Given the description of an element on the screen output the (x, y) to click on. 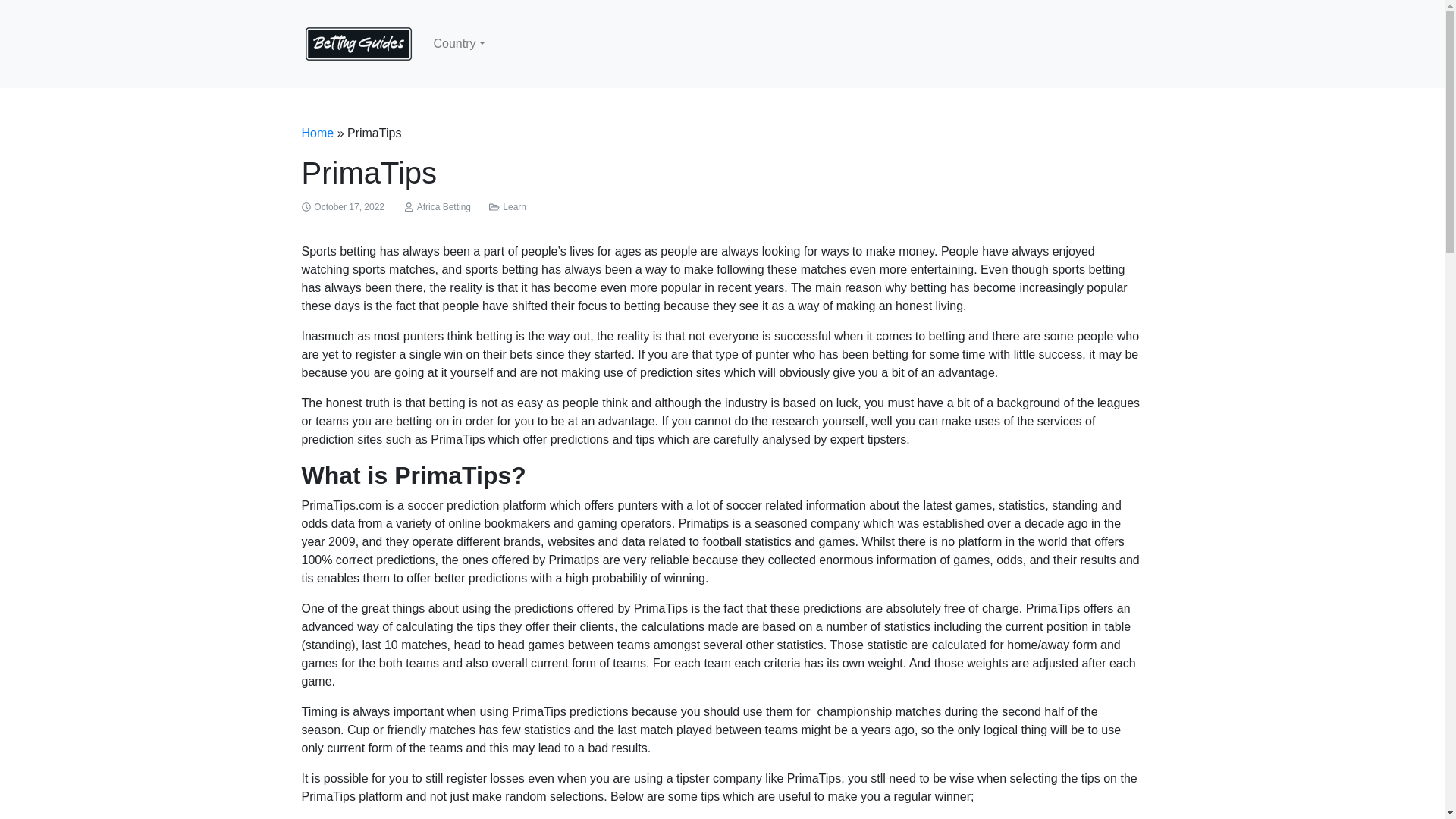
Home (317, 132)
Learn (513, 206)
Africa Betting (443, 206)
October 17, 2022 (349, 206)
Country (460, 43)
